Given the description of an element on the screen output the (x, y) to click on. 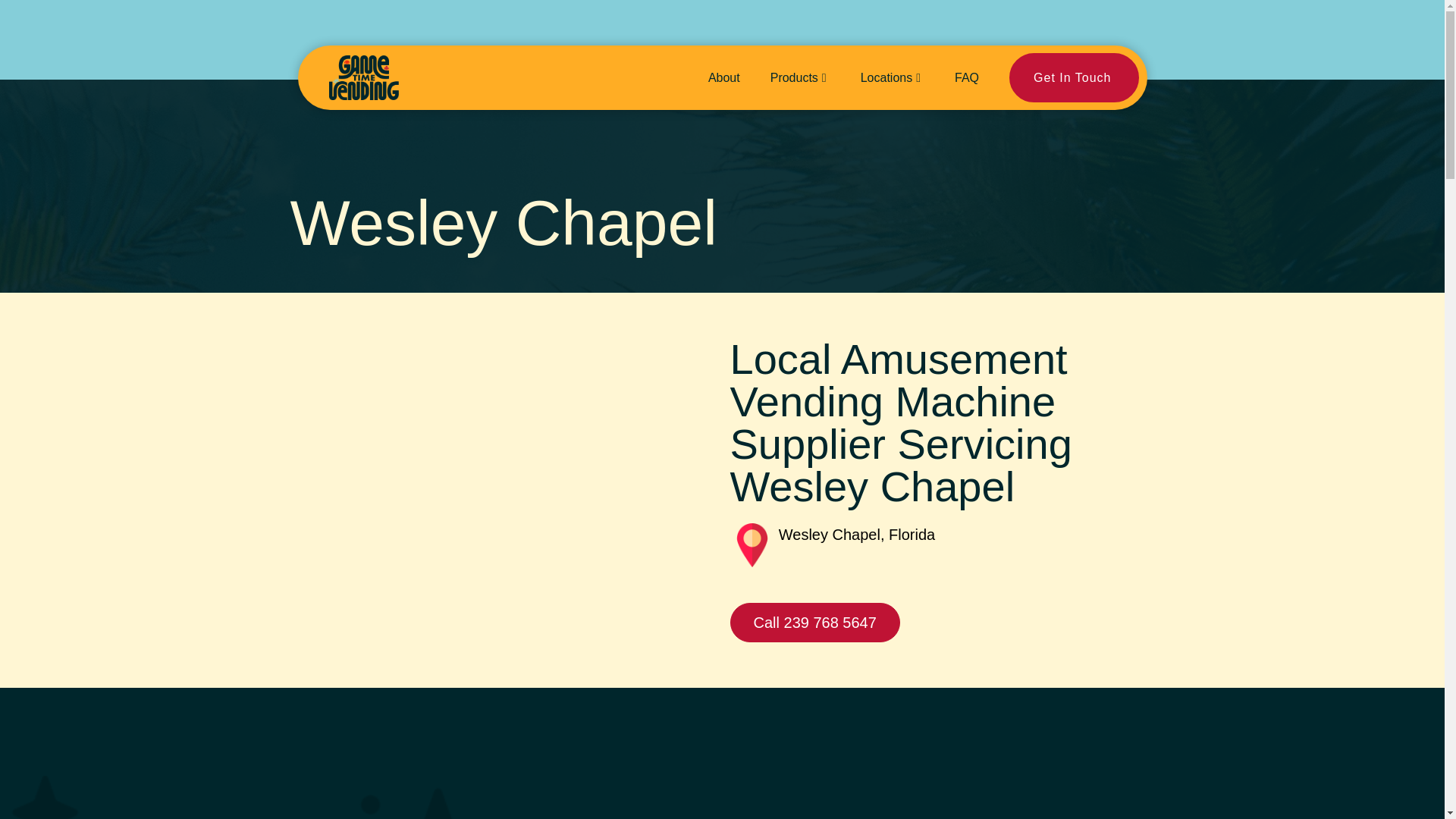
Locations (892, 77)
About (724, 77)
Products (851, 77)
